Given the description of an element on the screen output the (x, y) to click on. 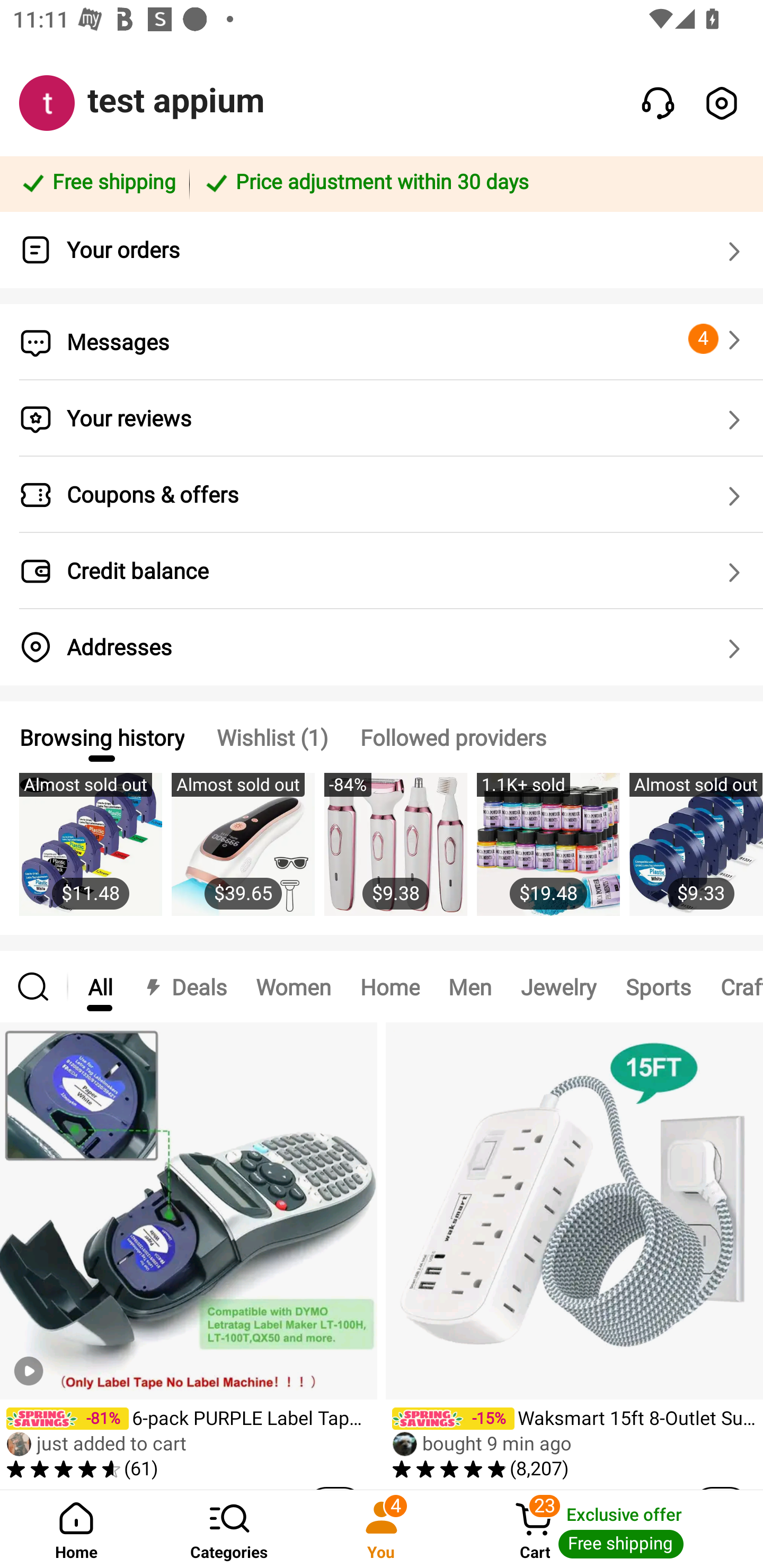
test appium (175, 100)
Free shipping (97, 183)
Price adjustment within 30 days (472, 183)
Your orders (381, 249)
Messages 4 (381, 342)
4 (717, 339)
Your reviews (381, 418)
Coupons & offers (381, 494)
Credit balance (381, 571)
Addresses (381, 647)
Browsing history (101, 736)
Wishlist (1) (271, 736)
Followed providers (453, 736)
Almost sold out $11.48 (90, 853)
Almost sold out $39.65 (242, 853)
-84% $9.38 (395, 853)
1.1K+ sold $19.48 (547, 853)
Almost sold out $9.33 (696, 853)
All (99, 986)
Deals Deals Deals (183, 986)
Women (293, 986)
Home (389, 986)
Men (469, 986)
Jewelry (558, 986)
Sports (658, 986)
Home (76, 1528)
Categories (228, 1528)
You 4 You (381, 1528)
Cart 23 Cart Exclusive offer (610, 1528)
